Given the description of an element on the screen output the (x, y) to click on. 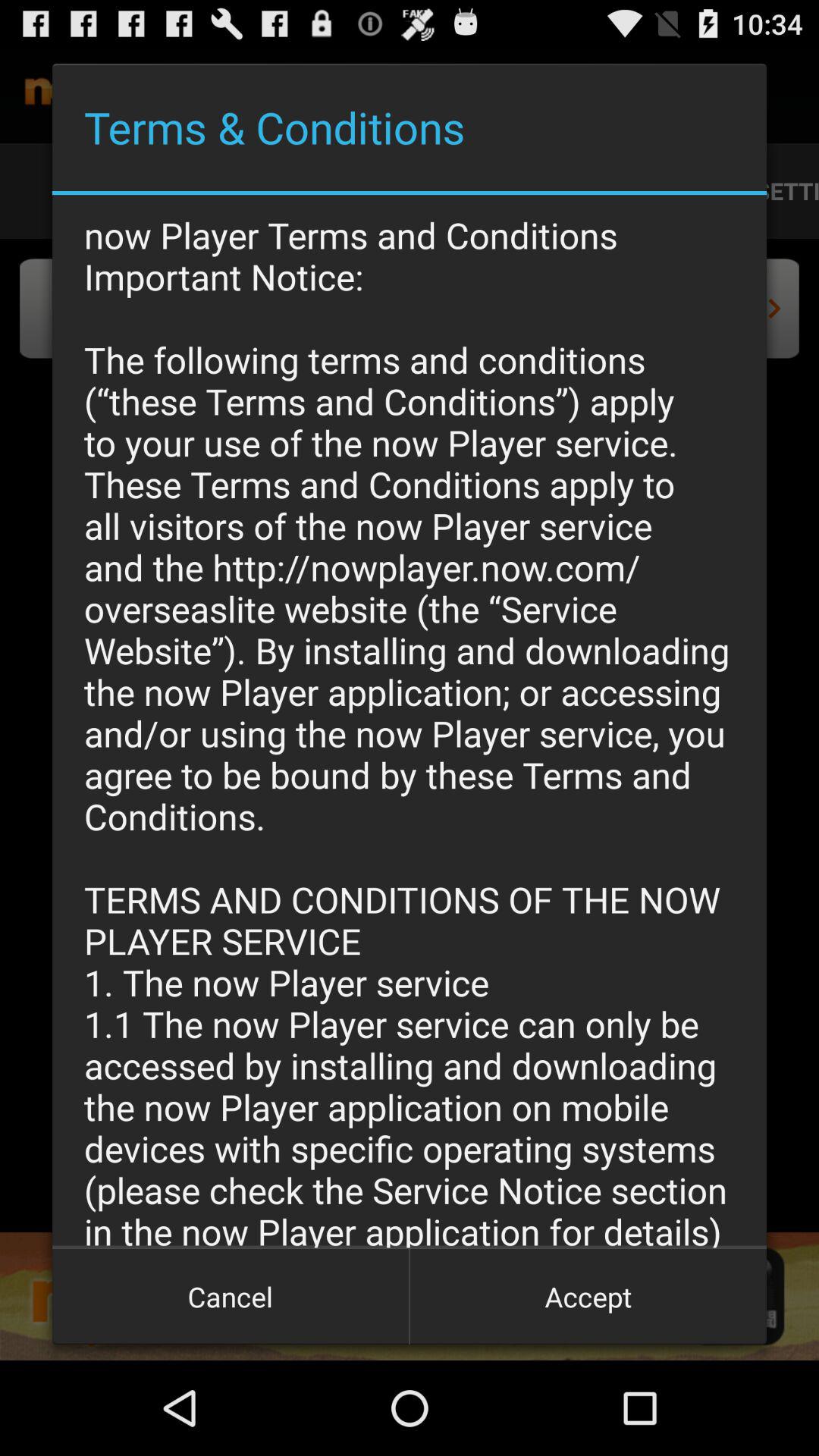
launch the item to the left of the accept icon (230, 1296)
